Given the description of an element on the screen output the (x, y) to click on. 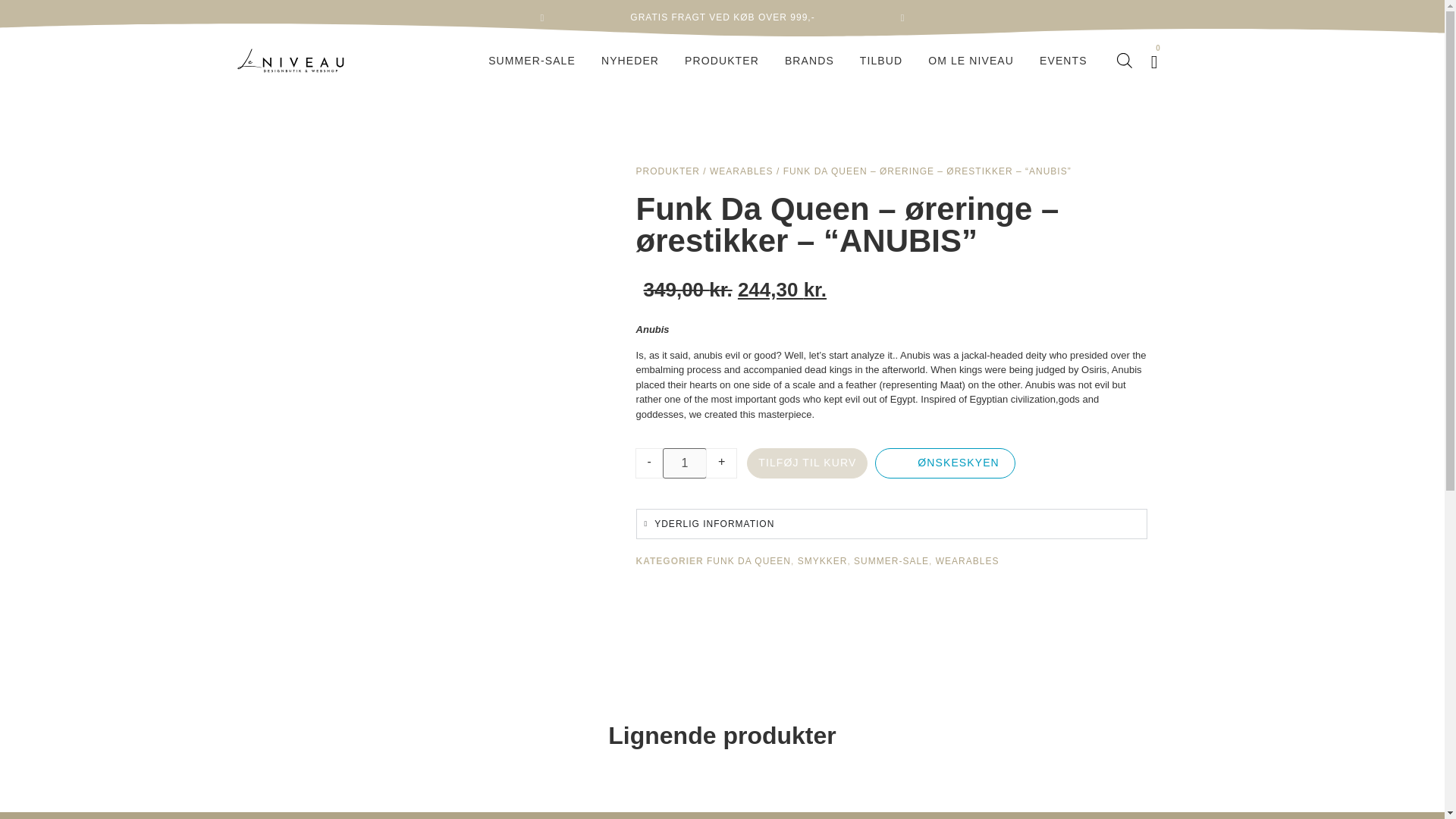
PRODUKTER (722, 60)
1 (684, 462)
SUMMER-SALE (531, 60)
BRANDS (809, 60)
NYHEDER (629, 60)
